Given the description of an element on the screen output the (x, y) to click on. 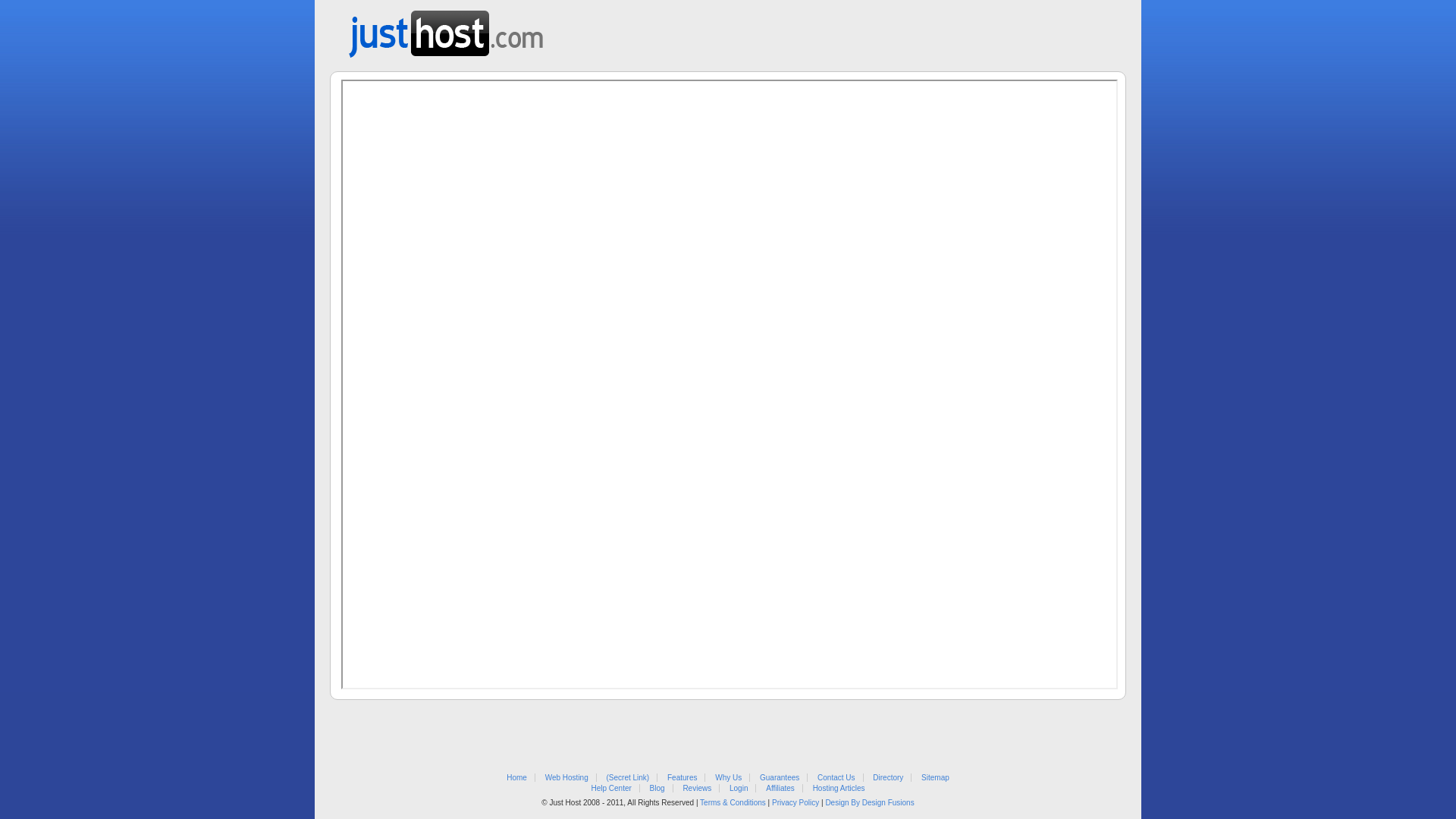
Guarantees Element type: text (779, 777)
Reviews Element type: text (696, 788)
Web Hosting Element type: text (566, 777)
Affiliates Element type: text (779, 788)
Web Hosting from Just Host Element type: text (445, 28)
Design By Design Fusions Element type: text (869, 802)
Blog Element type: text (657, 788)
Contact Us Element type: text (835, 777)
(Secret Link) Element type: text (627, 777)
Privacy Policy Element type: text (795, 802)
Why Us Element type: text (728, 777)
Features Element type: text (681, 777)
Help Center Element type: text (610, 788)
Sitemap Element type: text (935, 777)
Home Element type: text (516, 777)
Terms & Conditions Element type: text (732, 802)
Directory Element type: text (887, 777)
Hosting Articles Element type: text (838, 788)
Login Element type: text (738, 788)
